Given the description of an element on the screen output the (x, y) to click on. 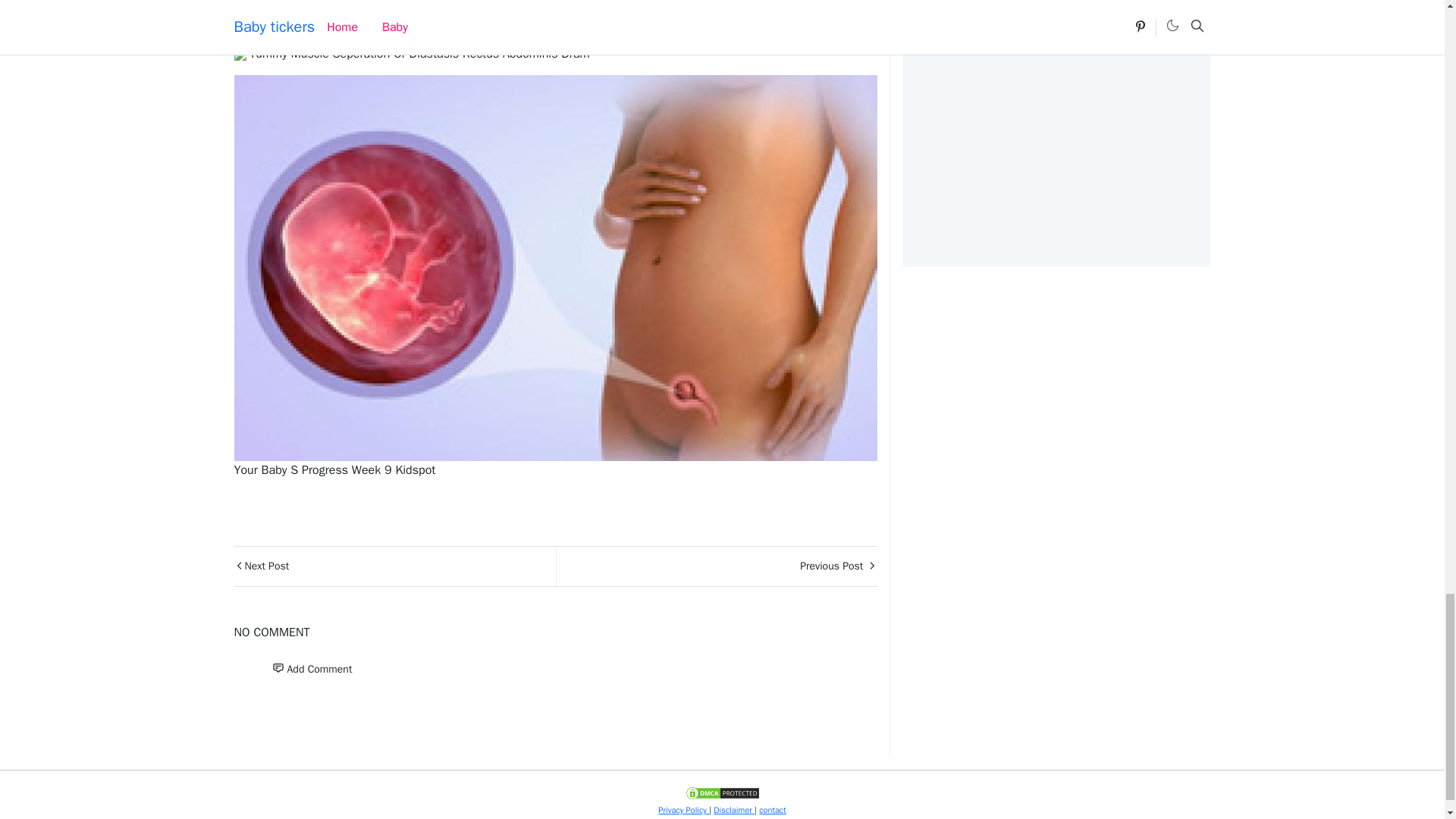
Next Post (393, 566)
Privacy Policy (683, 809)
Previous Post (715, 566)
Add Comment (311, 668)
